Given the description of an element on the screen output the (x, y) to click on. 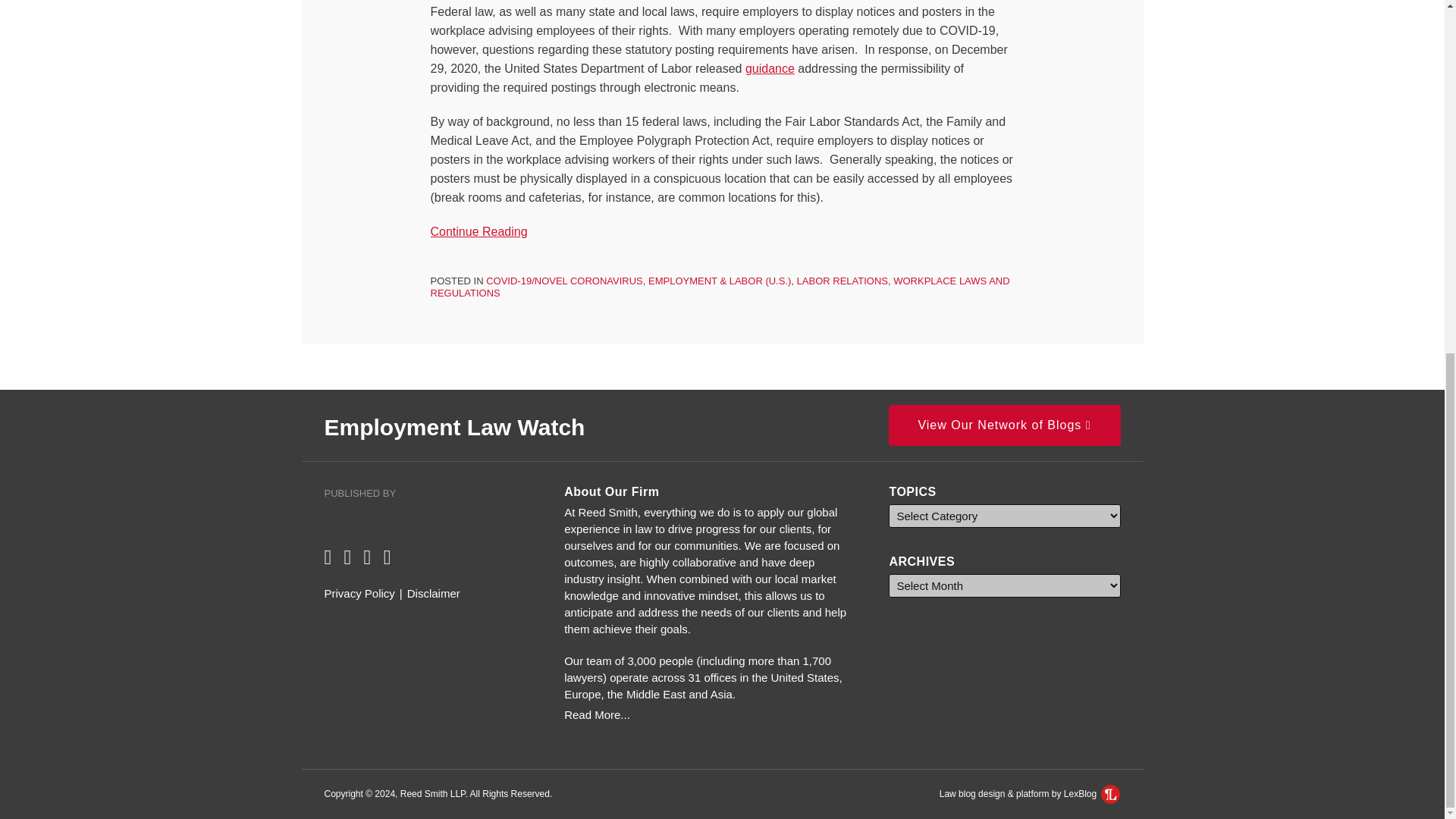
guidance (769, 68)
Read More... (710, 714)
LexBlog Logo (1109, 793)
Employment Law Watch (454, 426)
WORKPLACE LAWS AND REGULATIONS (720, 286)
Privacy Policy (359, 593)
Disclaimer (433, 593)
LABOR RELATIONS (842, 280)
View Our Network of Blogs (1004, 424)
